Given the description of an element on the screen output the (x, y) to click on. 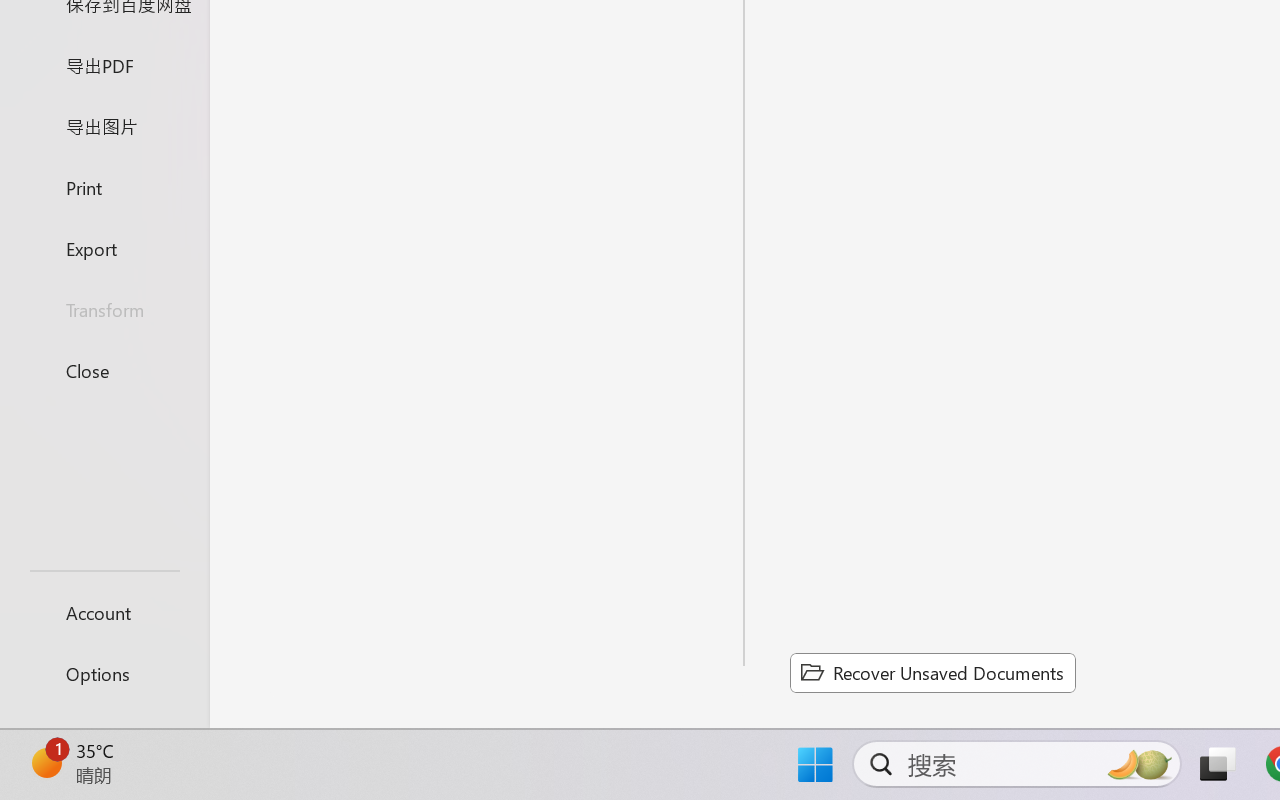
Transform (104, 309)
Export (104, 248)
Recover Unsaved Documents (932, 672)
Account (104, 612)
Options (104, 673)
Print (104, 186)
